Given the description of an element on the screen output the (x, y) to click on. 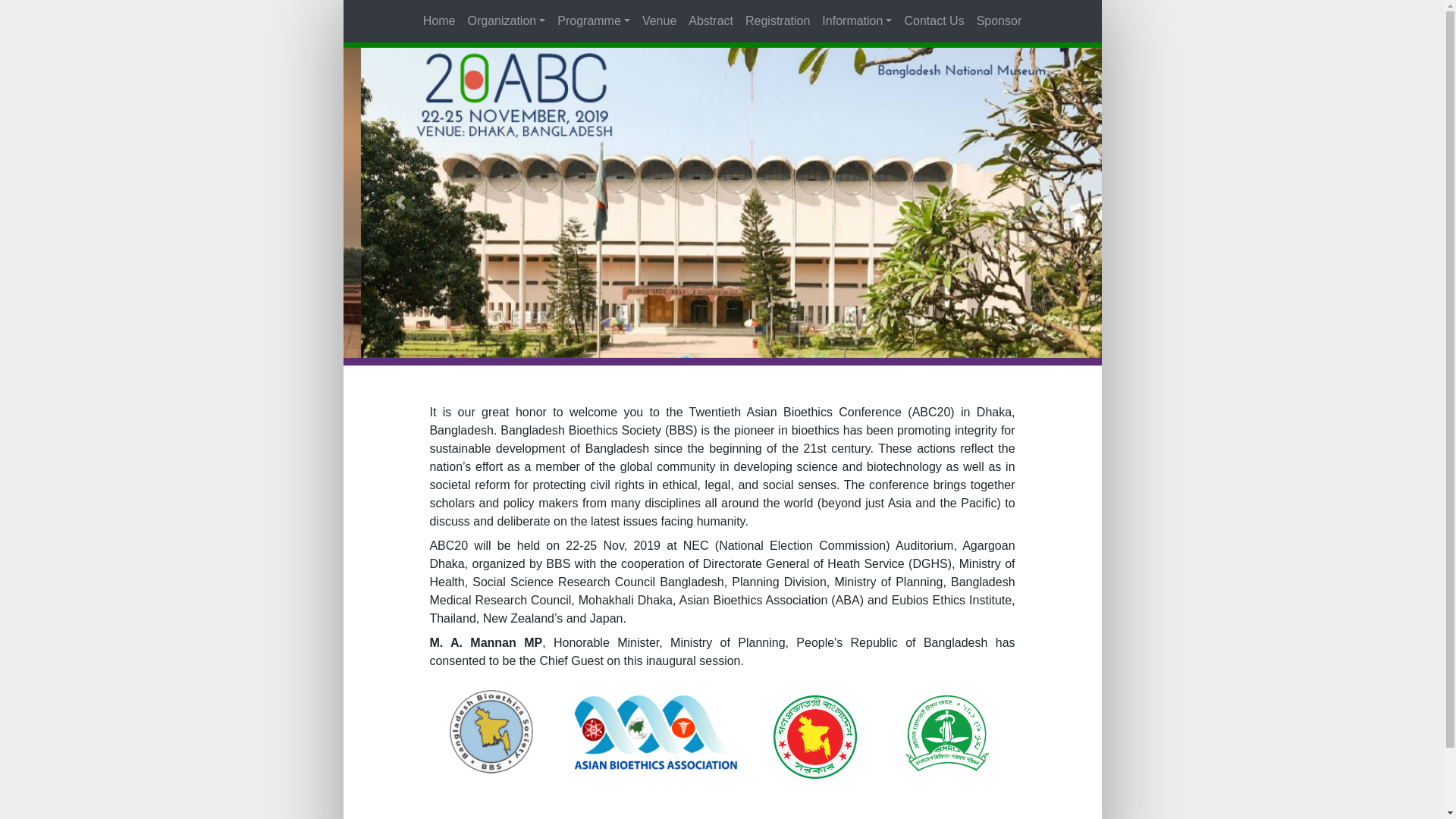
Organization Element type: text (506, 21)
Programme Element type: text (593, 21)
Information Element type: text (856, 21)
Home
(current) Element type: text (439, 21)
Next Element type: text (1044, 202)
Venue Element type: text (659, 21)
Abstract Element type: text (710, 21)
Contact Us Element type: text (933, 21)
Registration Element type: text (777, 21)
Sponsor Element type: text (999, 21)
Previous Element type: text (399, 202)
